Given the description of an element on the screen output the (x, y) to click on. 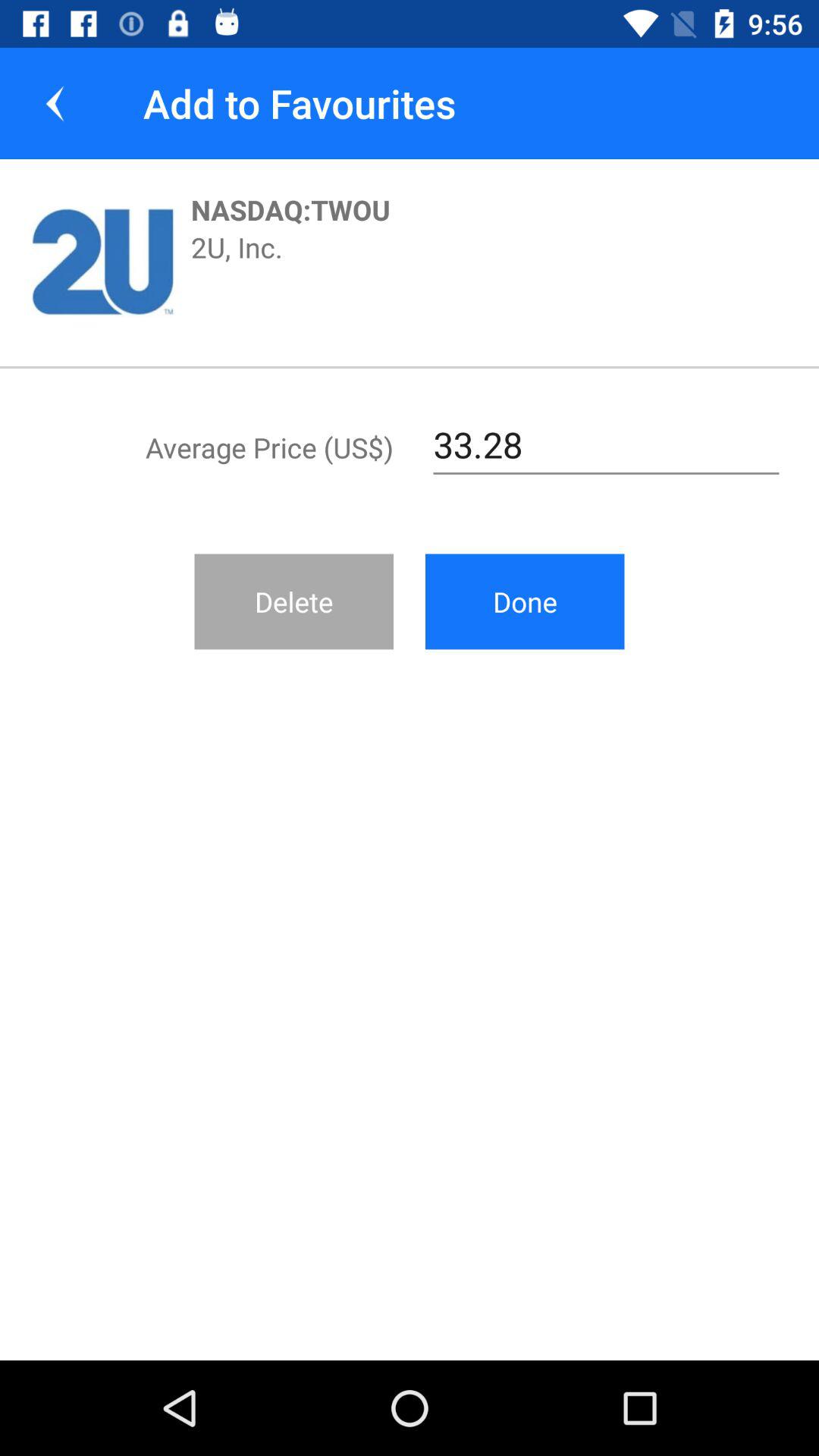
swipe until done icon (524, 601)
